Given the description of an element on the screen output the (x, y) to click on. 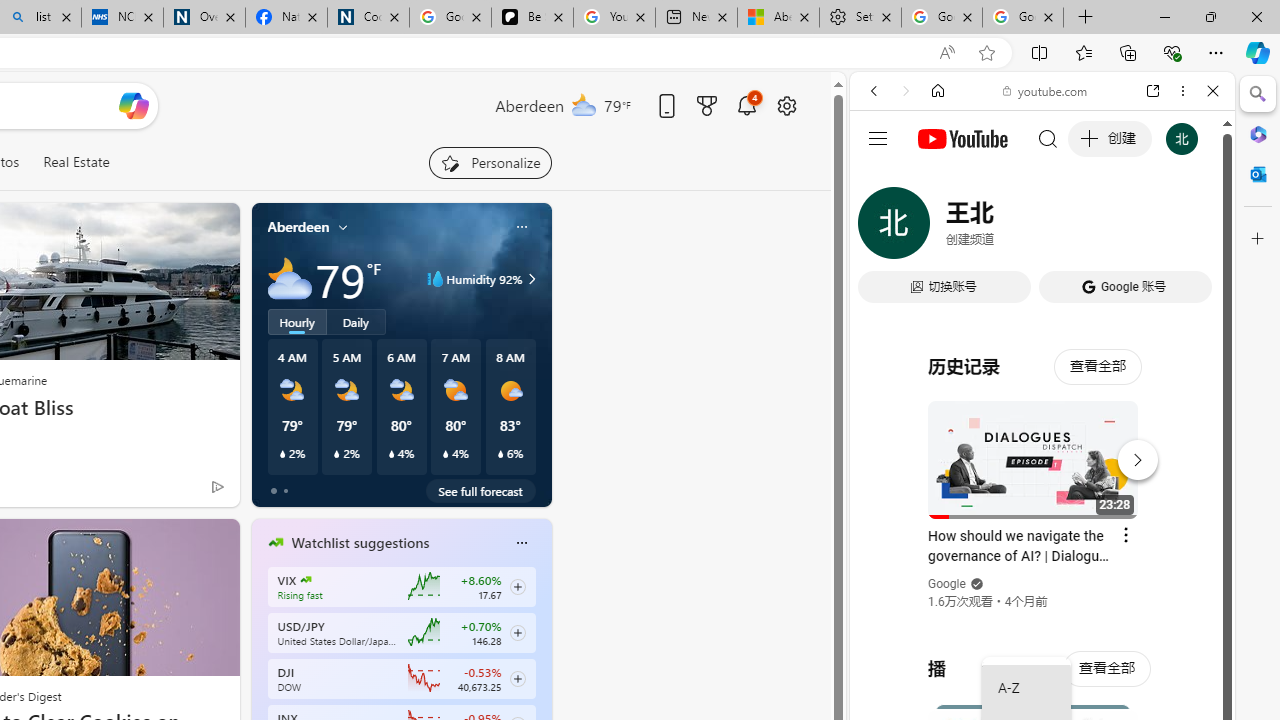
Close Outlook pane (1258, 174)
Mostly cloudy (289, 278)
Search the web (1051, 137)
CBOE Market Volatility Index (306, 579)
Aberdeen, Hong Kong SAR hourly forecast | Microsoft Weather (778, 17)
Class: follow-button  m (517, 678)
Microsoft rewards (707, 105)
Humidity 92% (529, 278)
Music (1042, 543)
